Given the description of an element on the screen output the (x, y) to click on. 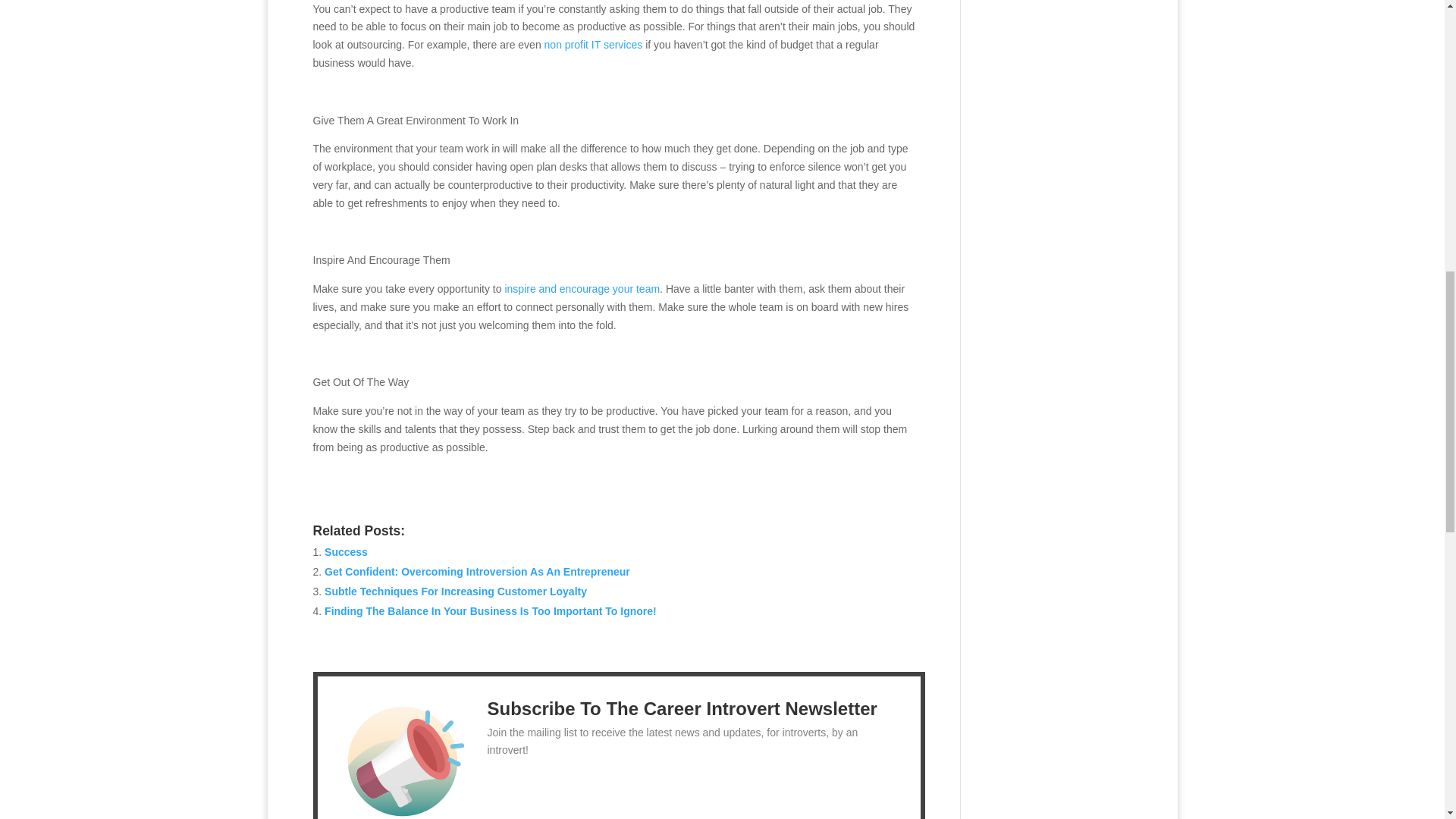
Subtle Techniques For Increasing Customer Loyalty (455, 591)
inspire and encourage your team (581, 288)
Subtle Techniques For Increasing Customer Loyalty (455, 591)
Get Confident: Overcoming Introversion As An Entrepreneur (477, 571)
Get Confident: Overcoming Introversion As An Entrepreneur (477, 571)
Success (346, 551)
Success (346, 551)
non profit IT services (593, 44)
